Given the description of an element on the screen output the (x, y) to click on. 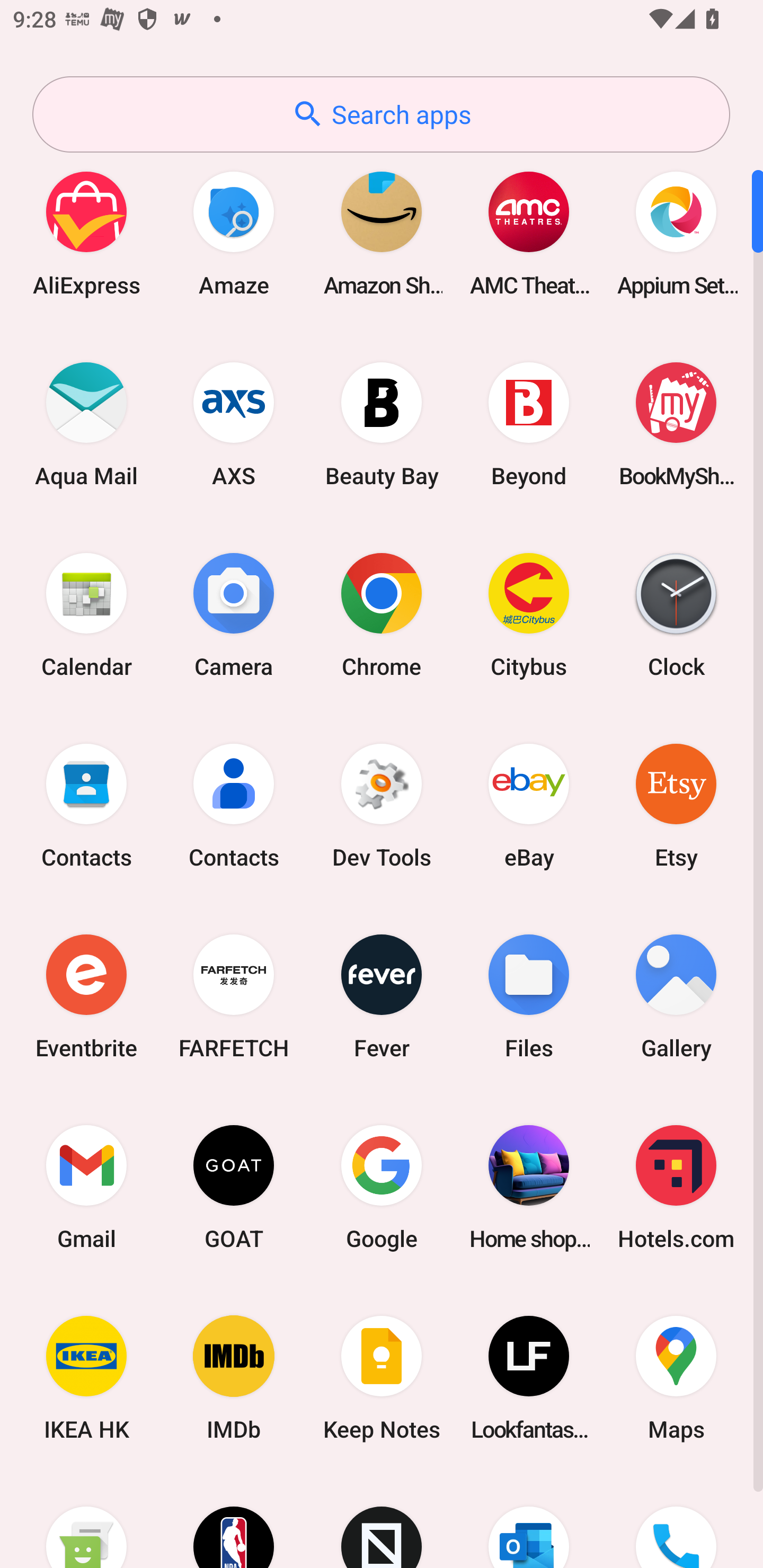
  Search apps (381, 114)
AliExpress (86, 233)
Amaze (233, 233)
Amazon Shopping (381, 233)
AMC Theatres (528, 233)
Appium Settings (676, 233)
Aqua Mail (86, 424)
AXS (233, 424)
Beauty Bay (381, 424)
Beyond (528, 424)
BookMyShow (676, 424)
Calendar (86, 614)
Camera (233, 614)
Chrome (381, 614)
Citybus (528, 614)
Clock (676, 614)
Contacts (86, 805)
Contacts (233, 805)
Dev Tools (381, 805)
eBay (528, 805)
Etsy (676, 805)
Eventbrite (86, 996)
FARFETCH (233, 996)
Fever (381, 996)
Files (528, 996)
Gallery (676, 996)
Gmail (86, 1186)
GOAT (233, 1186)
Google (381, 1186)
Home shopping (528, 1186)
Hotels.com (676, 1186)
IKEA HK (86, 1377)
IMDb (233, 1377)
Keep Notes (381, 1377)
Lookfantastic (528, 1377)
Maps (676, 1377)
